Given the description of an element on the screen output the (x, y) to click on. 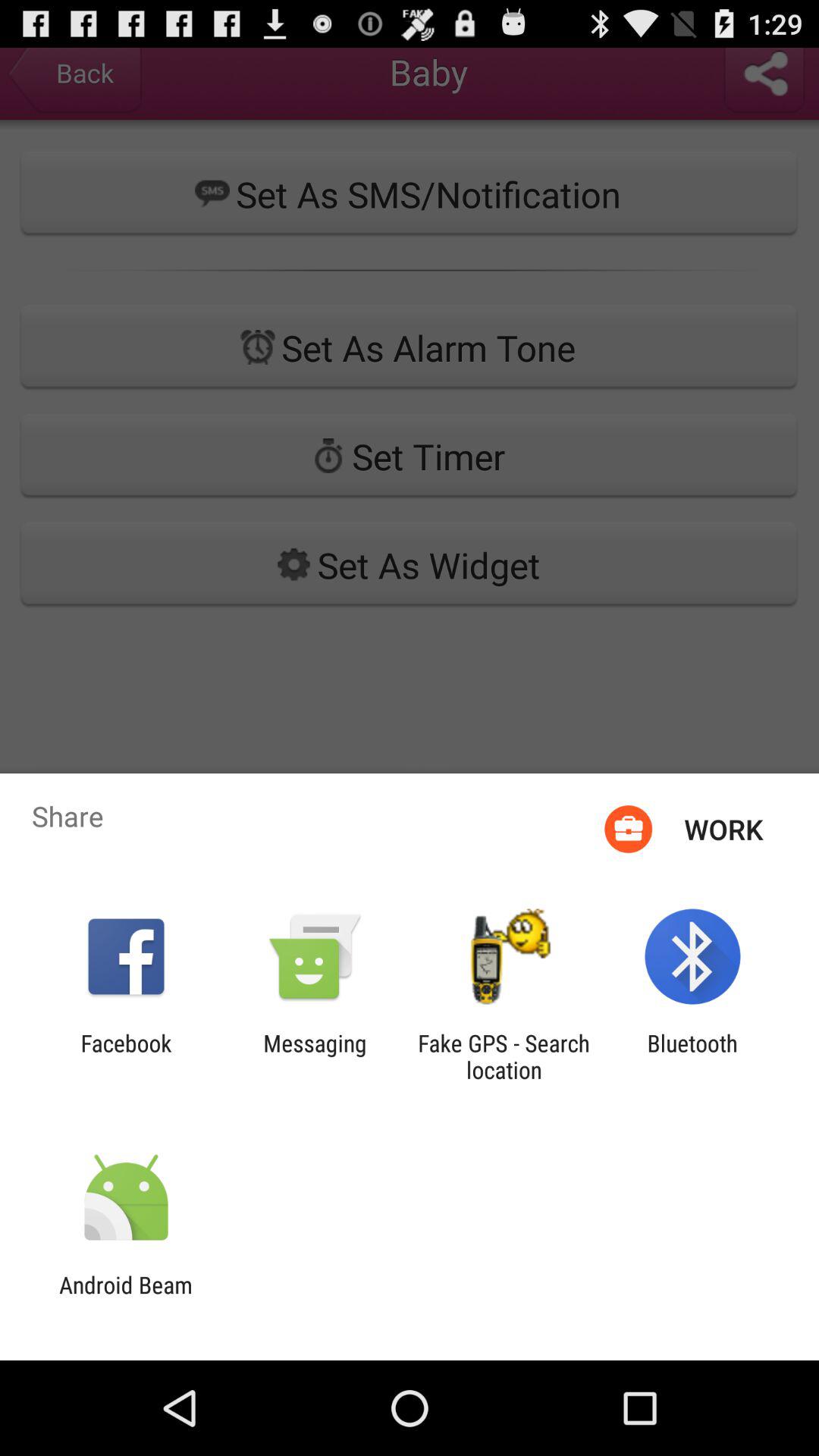
press icon next to messaging icon (503, 1056)
